Given the description of an element on the screen output the (x, y) to click on. 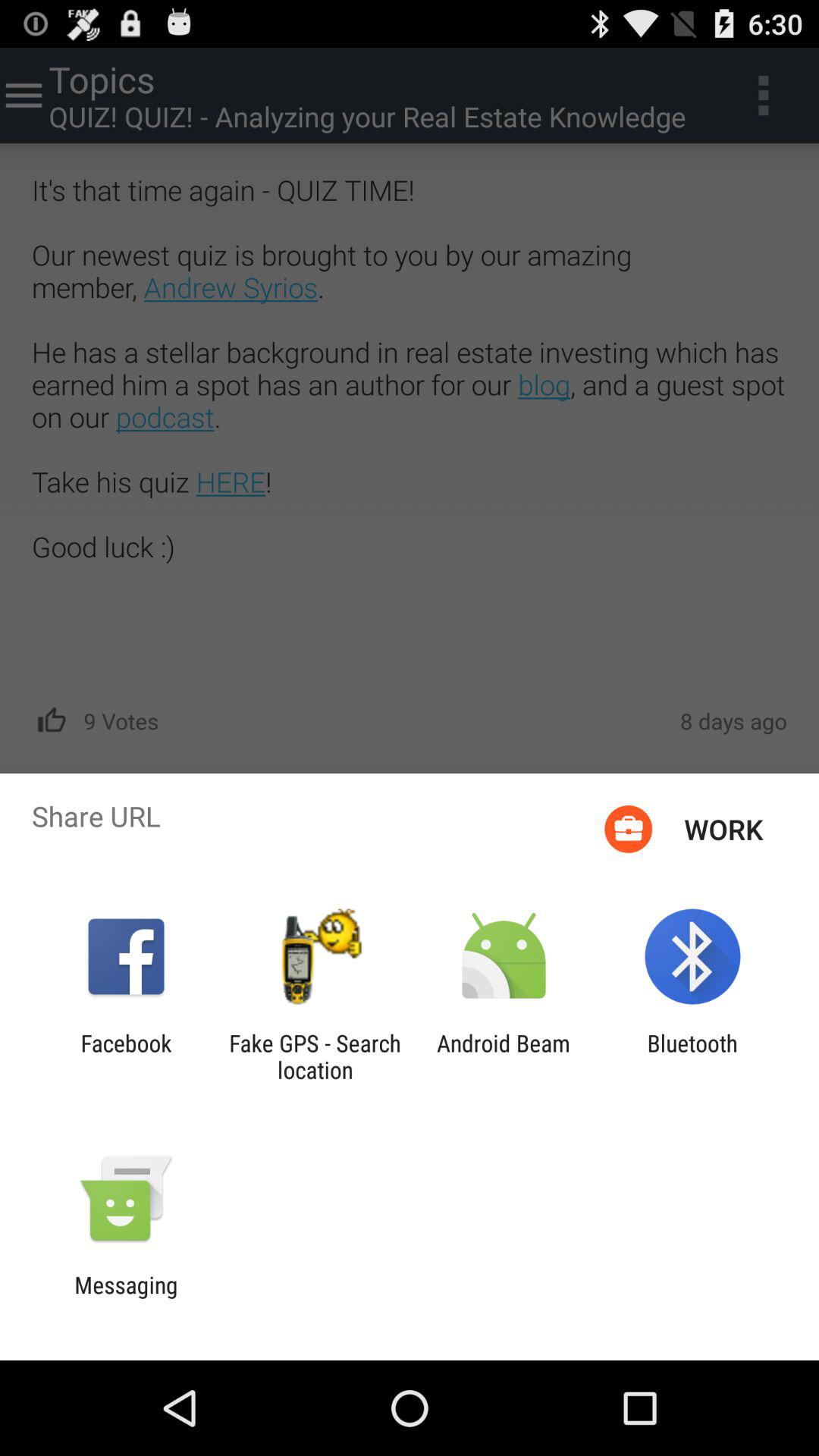
swipe until the bluetooth app (692, 1056)
